Given the description of an element on the screen output the (x, y) to click on. 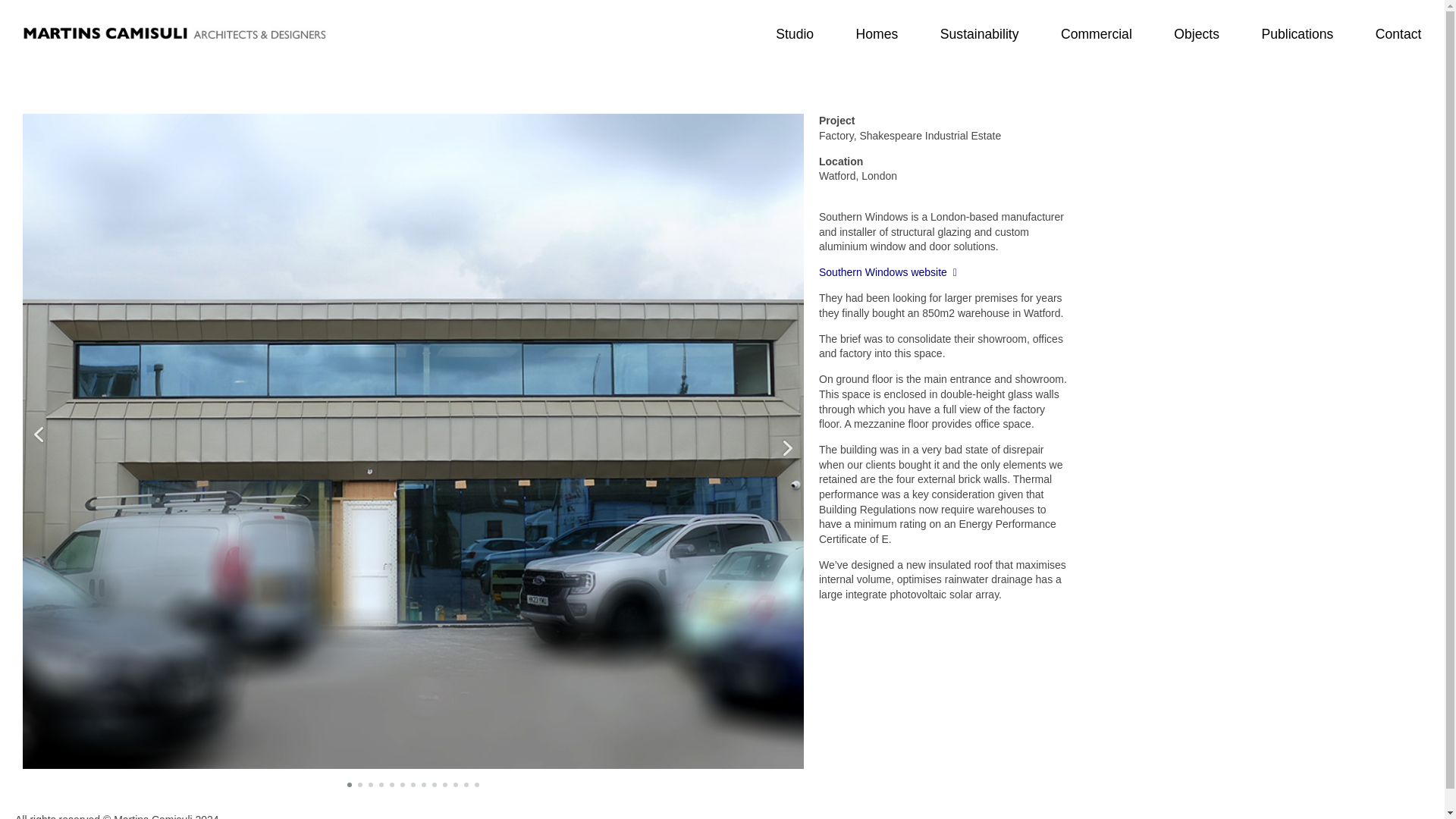
Sustainability (978, 33)
Studio (795, 33)
Commercial (1096, 33)
Publications (1296, 33)
Homes (876, 33)
Southern Windows website   (887, 272)
Objects (1196, 33)
